Given the description of an element on the screen output the (x, y) to click on. 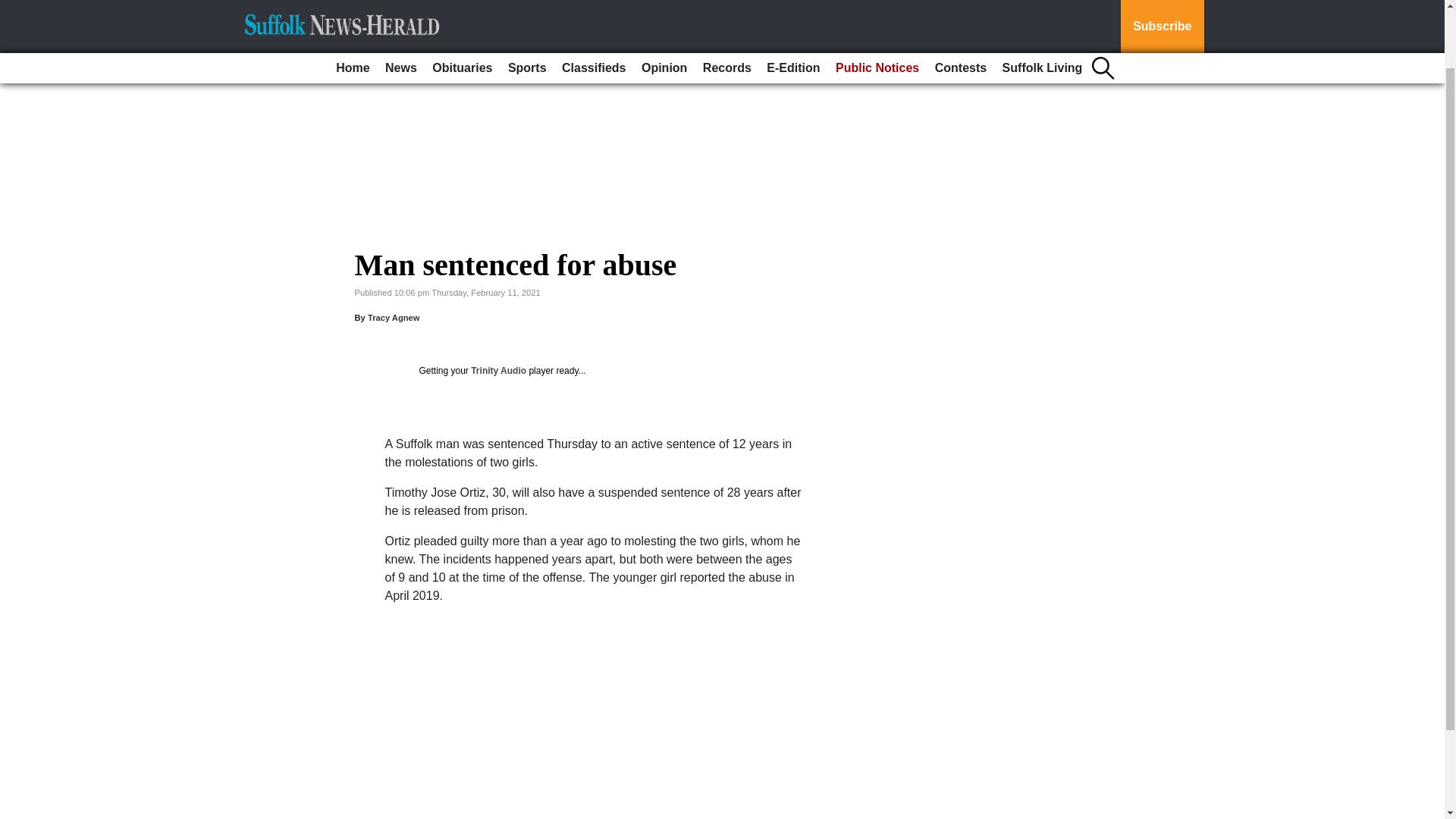
Suffolk Living (1042, 6)
E-Edition (792, 6)
Records (727, 6)
Home (352, 6)
Opinion (663, 6)
Public Notices (876, 6)
Classifieds (593, 6)
News (400, 6)
Tracy Agnew (394, 317)
Contests (960, 6)
